Given the description of an element on the screen output the (x, y) to click on. 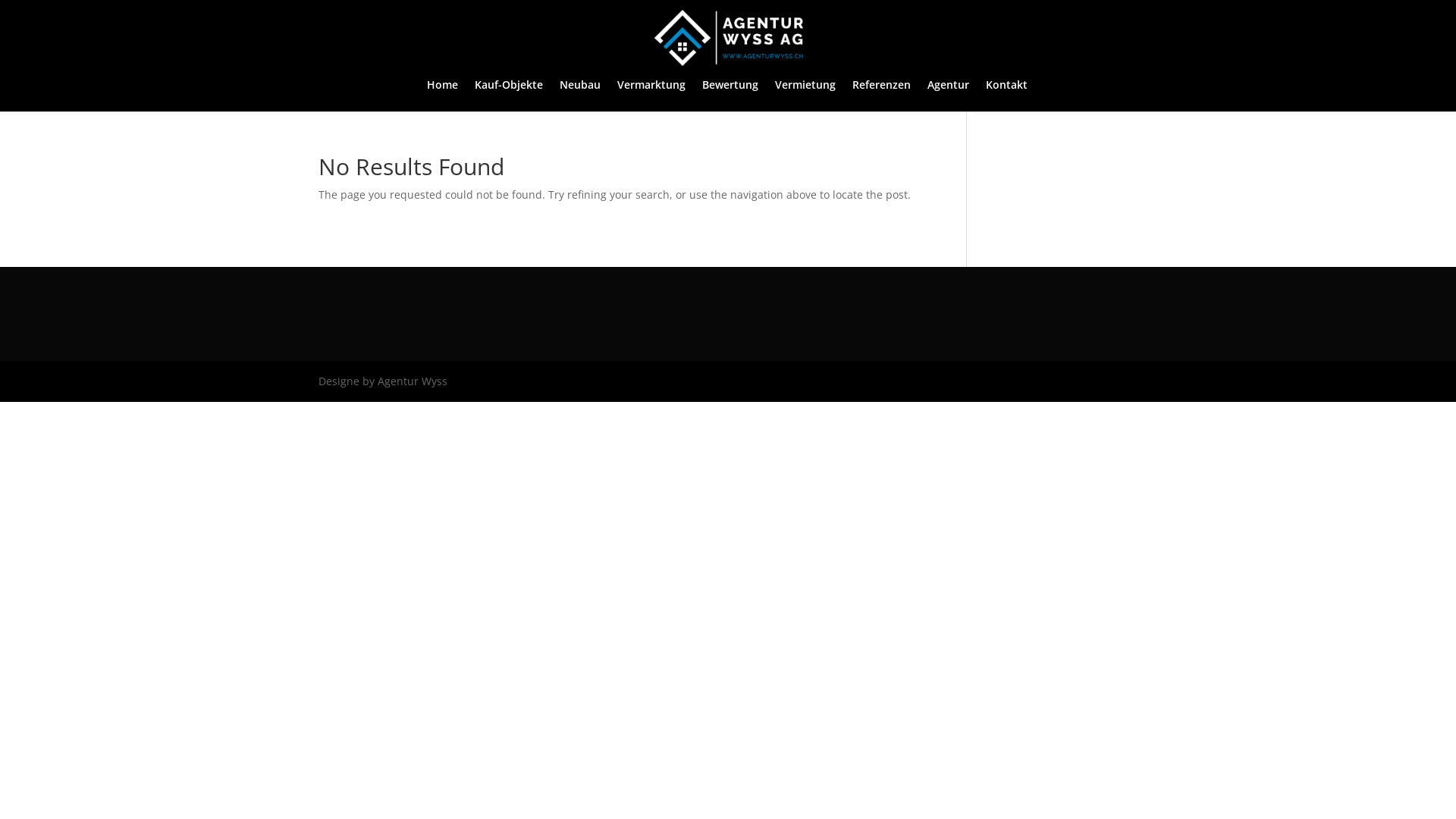
Neubau Element type: text (579, 95)
Vermietung Element type: text (805, 95)
Home Element type: text (442, 95)
Vermarktung Element type: text (651, 95)
Referenzen Element type: text (881, 95)
Agentur Element type: text (948, 95)
Kontakt Element type: text (1006, 95)
Kauf-Objekte Element type: text (508, 95)
Bewertung Element type: text (730, 95)
